Given the description of an element on the screen output the (x, y) to click on. 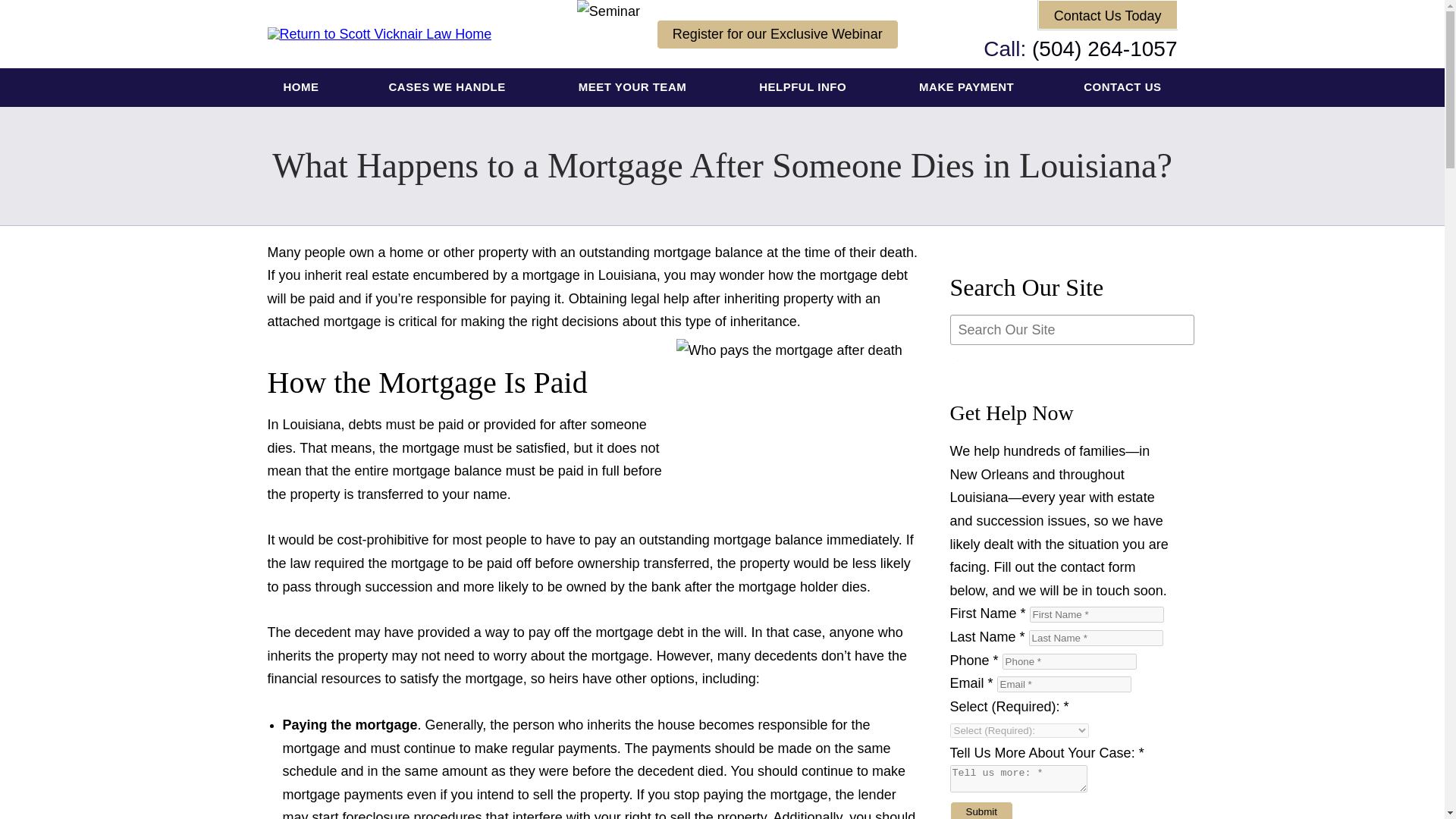
Contact Us Today (1107, 14)
HOME (300, 87)
CASES WE HANDLE (448, 87)
CONTACT US (1121, 87)
MAKE PAYMENT (965, 87)
HELPFUL INFO (803, 87)
MEET YOUR TEAM (634, 87)
Search (986, 360)
Register for our Exclusive Webinar (777, 34)
